Given the description of an element on the screen output the (x, y) to click on. 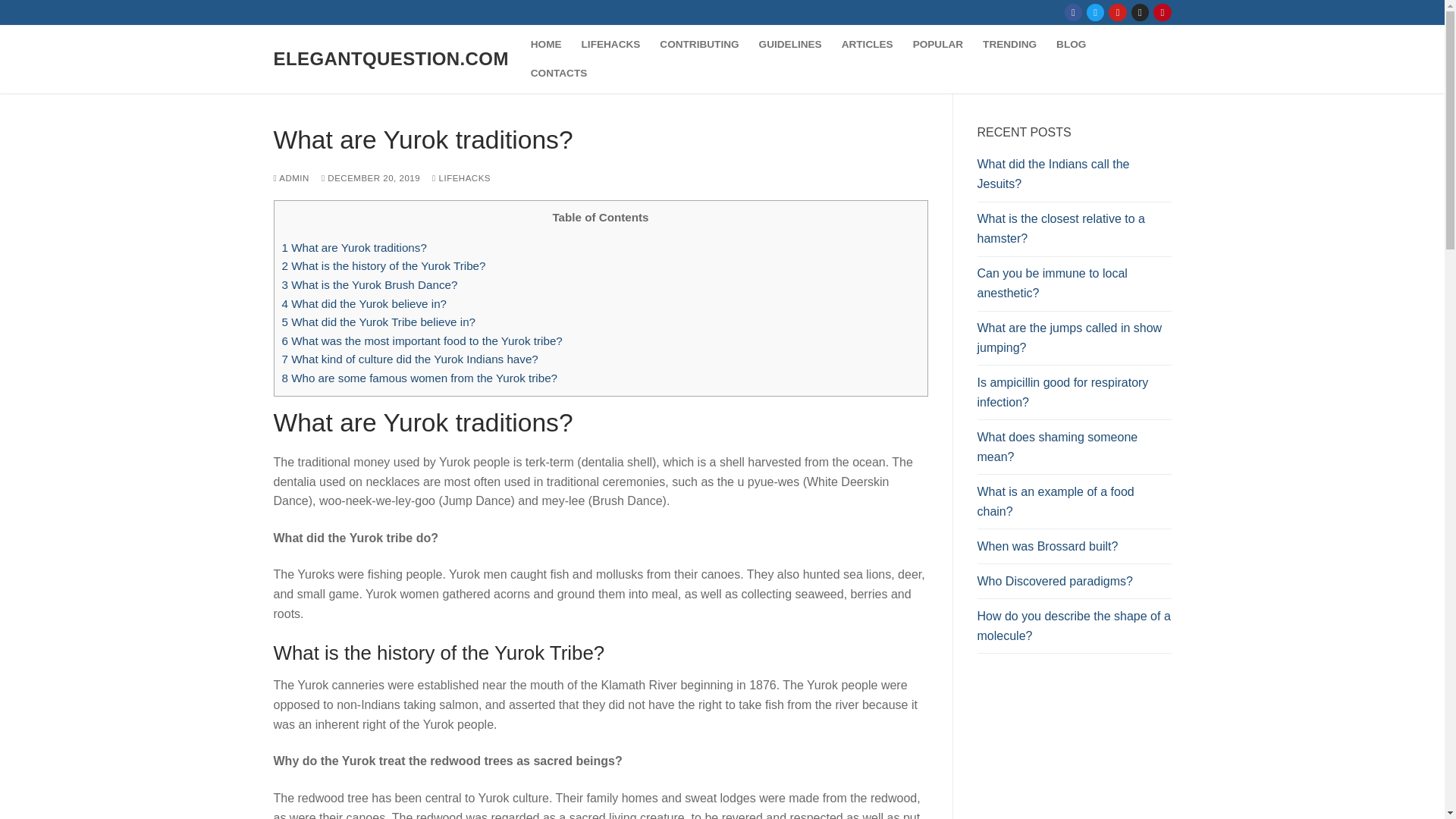
ELEGANTQUESTION.COM (390, 58)
Twitter (1095, 12)
ARTICLES (866, 44)
BLOG (1071, 44)
Instagram (1139, 12)
CONTRIBUTING (698, 44)
LIFEHACKS (611, 44)
DECEMBER 20, 2019 (370, 177)
POPULAR (937, 44)
Facebook (1073, 12)
